Given the description of an element on the screen output the (x, y) to click on. 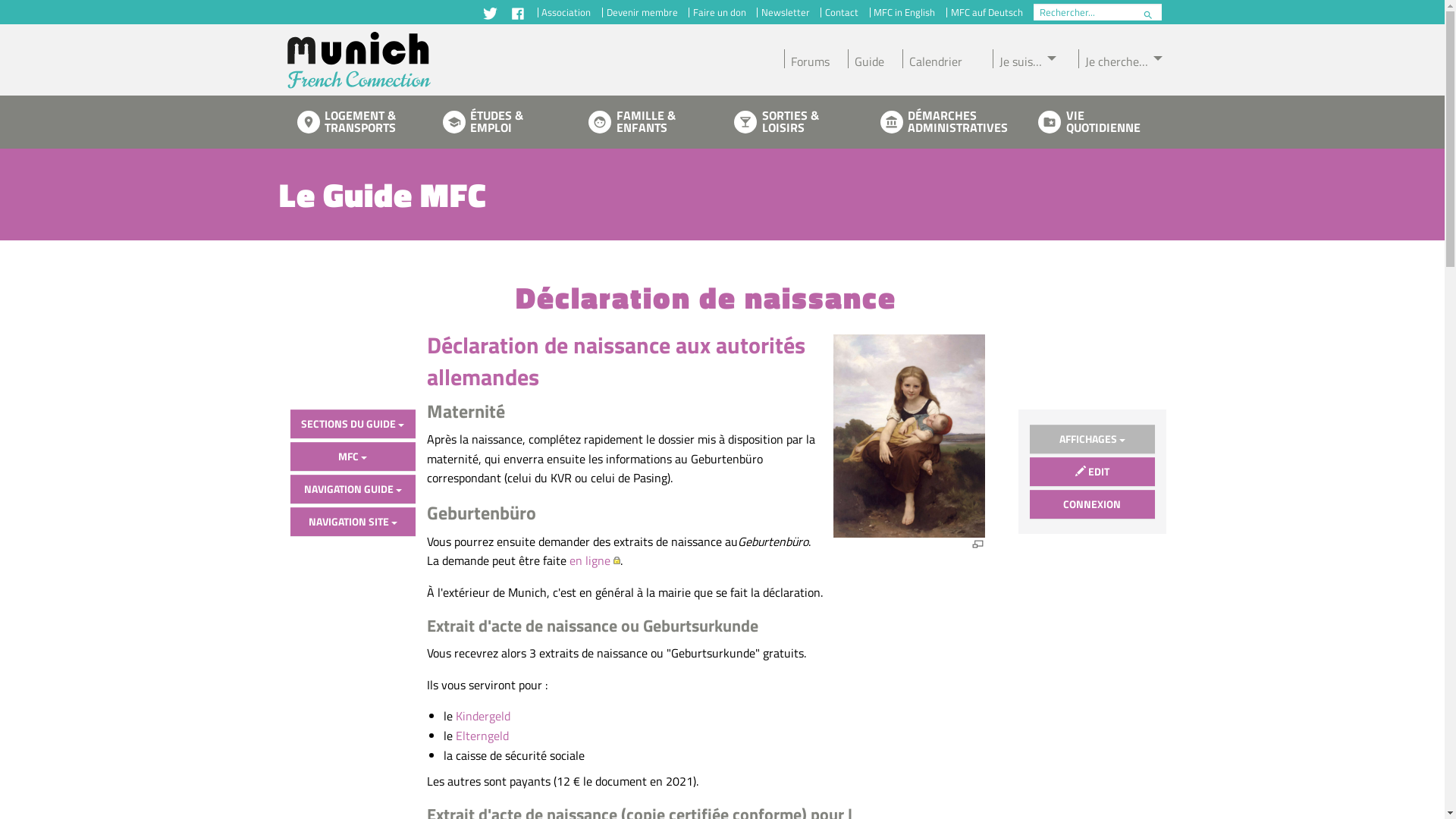
Agrandir Element type: hover (977, 543)
NAVIGATION GUIDE Element type: text (351, 488)
Newsletter Element type: text (784, 12)
SECTIONS DU GUIDE Element type: text (351, 423)
Faire un don Element type: text (718, 12)
MFC Element type: text (351, 456)
Guide Element type: text (871, 58)
search Element type: text (1144, 14)
Calendrier Element type: text (938, 58)
Contact Element type: text (841, 12)
MFC auf Deutsch Element type: text (986, 12)
EDIT Element type: text (1091, 471)
Forums Element type: text (812, 58)
place
LOGEMENT & TRANSPORTS Element type: text (351, 121)
face
FAMILLE & ENFANTS Element type: text (642, 121)
CONNEXION Element type: text (1091, 503)
MFC in English Element type: text (904, 12)
AFFICHAGES Element type: text (1091, 438)
Elterngeld Element type: text (481, 735)
en ligne Element type: text (593, 560)
folder_special
VIE QUOTIDIENNE Element type: text (1092, 121)
Devenir membre Element type: text (641, 12)
NAVIGATION SITE Element type: text (351, 521)
local_bar
SORTIES & LOISIRS Element type: text (788, 121)
Kindergeld Element type: text (482, 715)
Association Element type: text (566, 12)
